Given the description of an element on the screen output the (x, y) to click on. 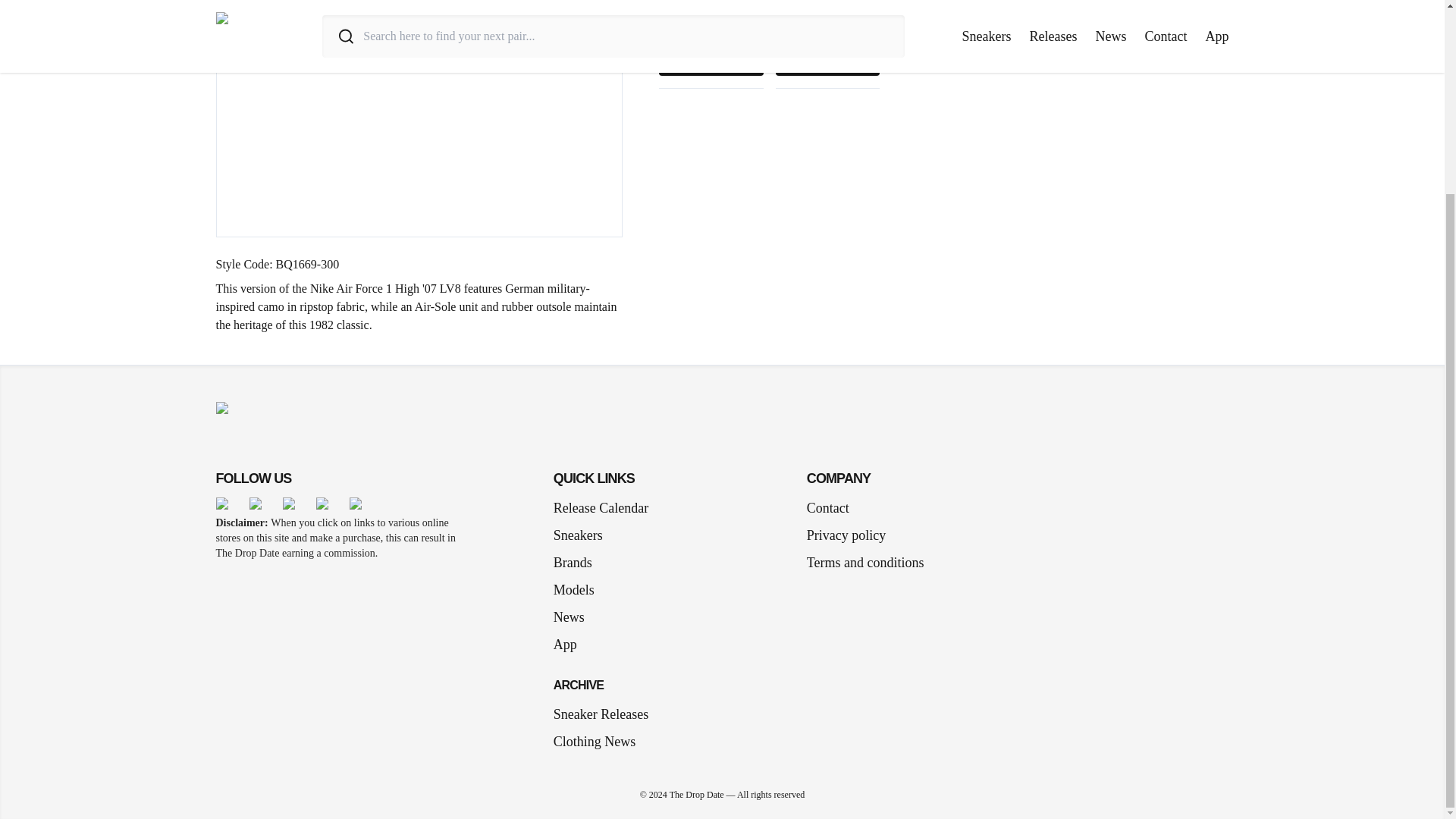
Privacy policy (845, 535)
Contact (827, 507)
Sneaker Releases (600, 713)
Brands (578, 562)
News (574, 617)
App (571, 644)
Models (580, 589)
Release Calendar (600, 507)
Terms and conditions (865, 562)
Clothing News (594, 741)
Sneakers (583, 535)
